Given the description of an element on the screen output the (x, y) to click on. 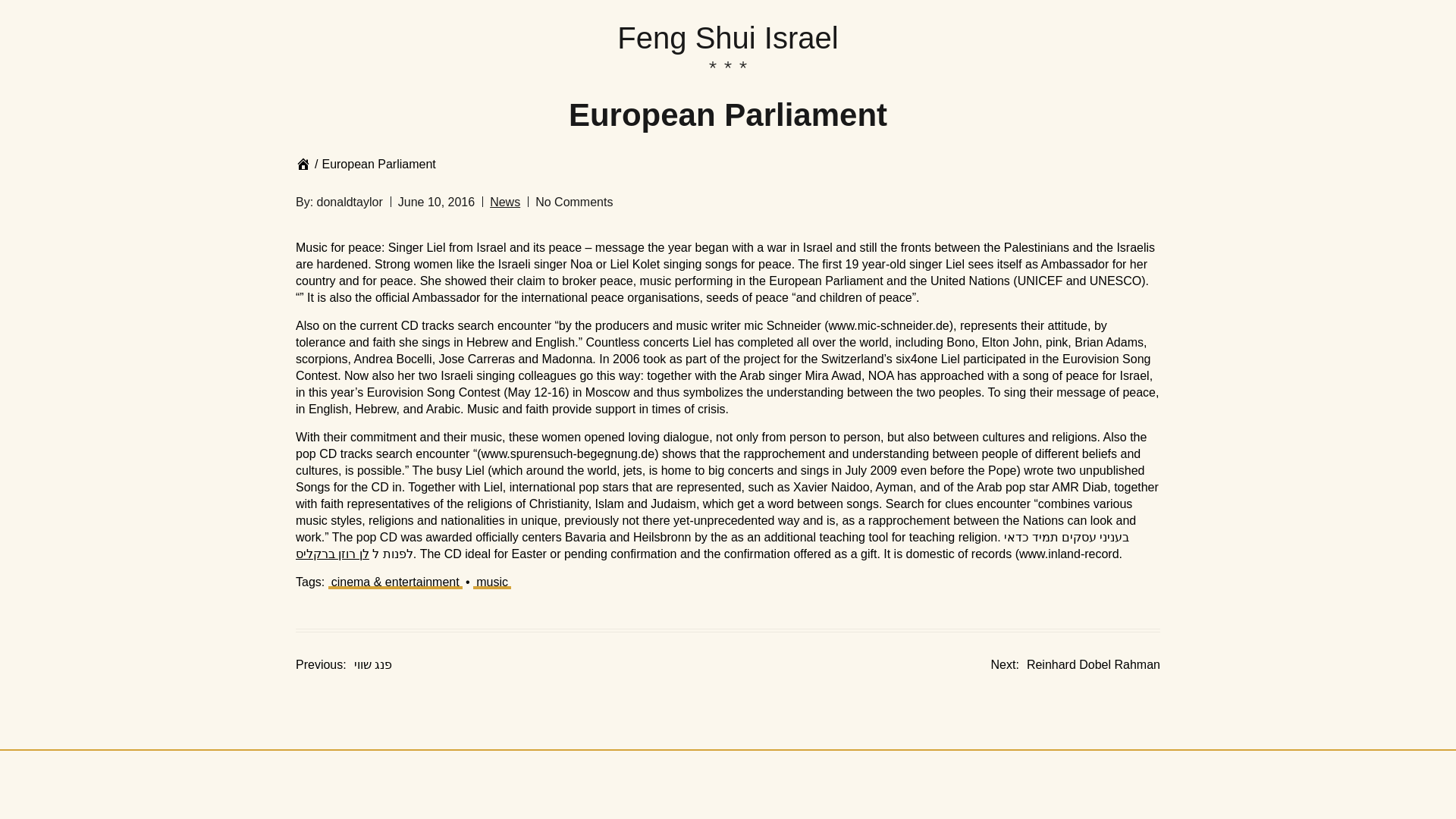
Feng Shui Israel (727, 39)
music (1075, 664)
News (492, 582)
